Given the description of an element on the screen output the (x, y) to click on. 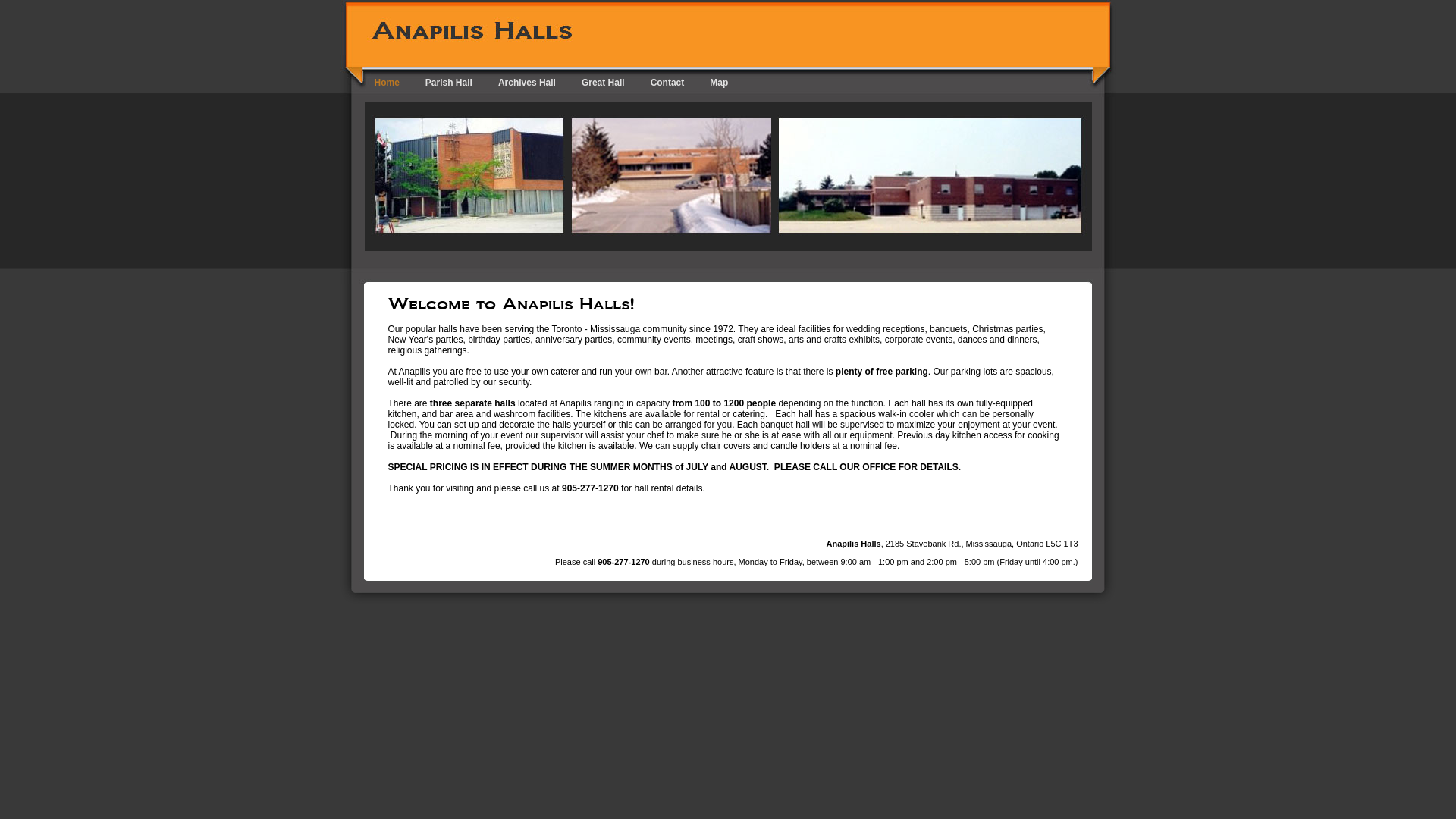
Parish Hall Element type: text (448, 81)
Contact Element type: text (667, 81)
Archives Hall Element type: text (526, 81)
Great Hall Element type: text (602, 81)
Home Element type: text (386, 81)
Map Element type: text (718, 81)
